Given the description of an element on the screen output the (x, y) to click on. 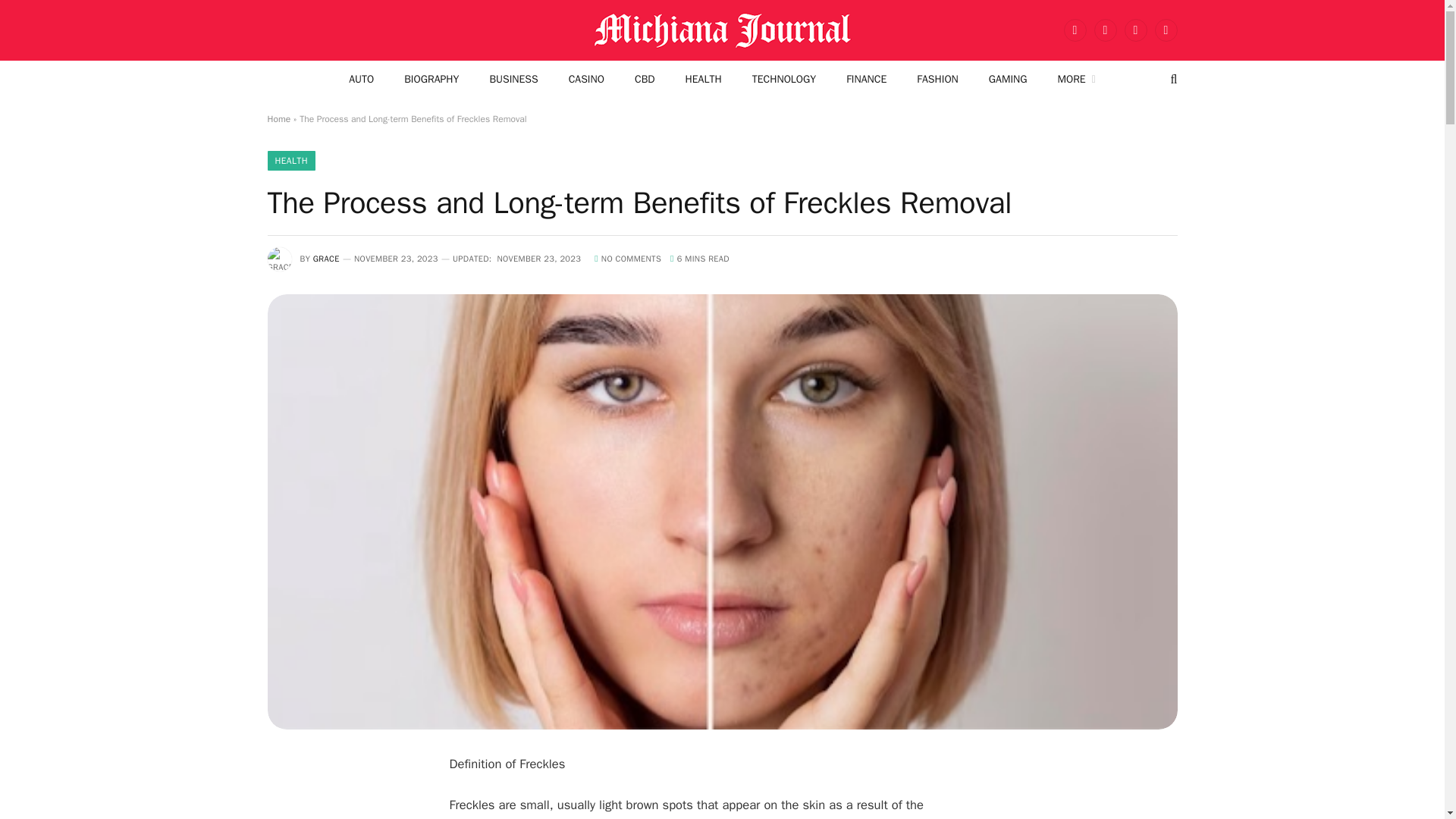
Instagram (1135, 29)
CASINO (586, 79)
NO COMMENTS (627, 258)
GAMING (1008, 79)
LinkedIn (1165, 29)
FINANCE (866, 79)
BIOGRAPHY (431, 79)
BUSINESS (513, 79)
CBD (644, 79)
FASHION (937, 79)
